Given the description of an element on the screen output the (x, y) to click on. 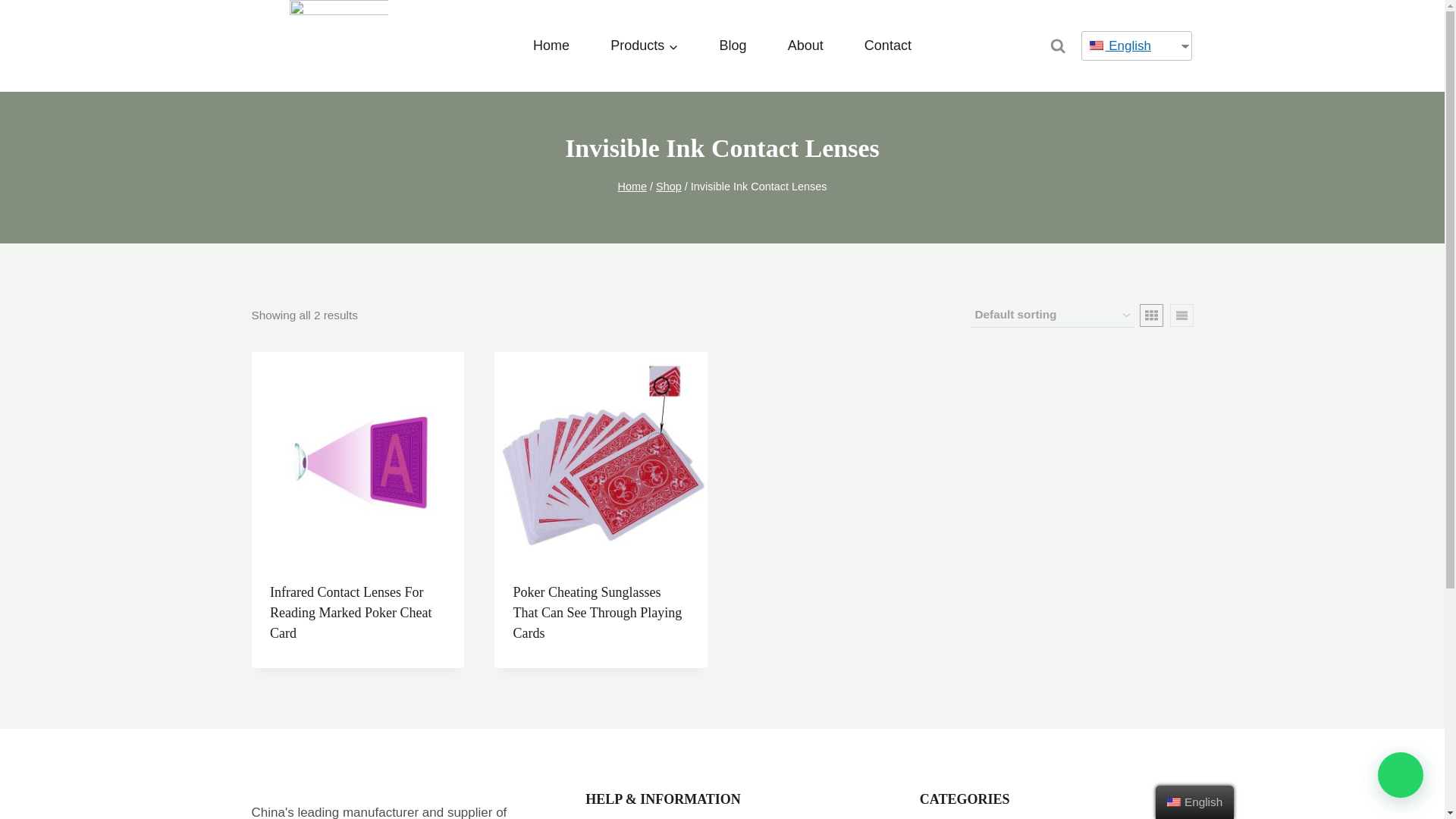
About (805, 46)
English (1131, 45)
List View (1180, 314)
Contact (887, 46)
English (1095, 44)
English (1173, 801)
Home (631, 186)
Blog (732, 46)
Poker Cheating Sunglasses That Can See Through Playing Cards (596, 612)
